Given the description of an element on the screen output the (x, y) to click on. 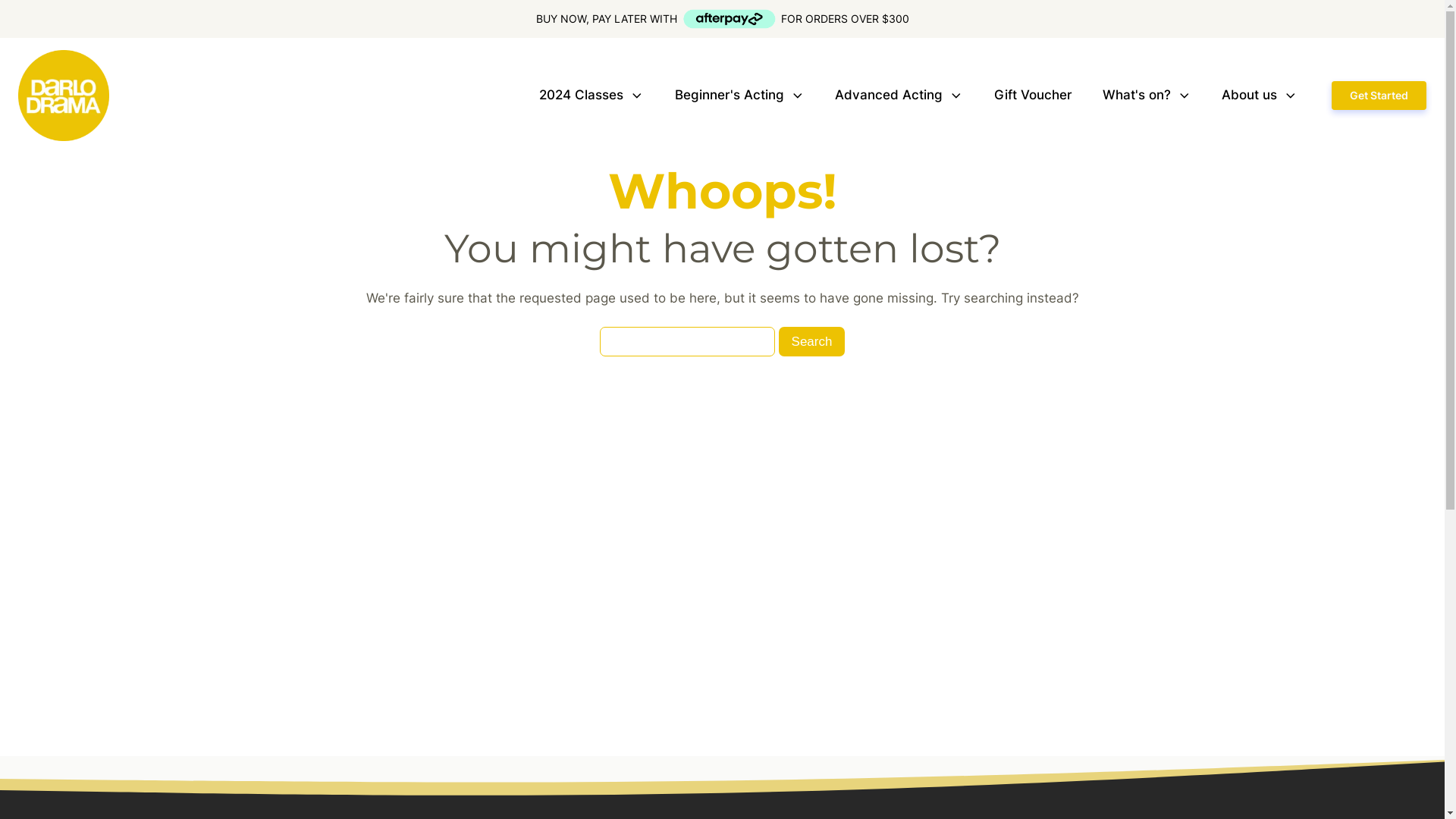
About us Element type: text (1259, 94)
Advanced Acting Element type: text (898, 94)
Get Started Element type: text (1378, 95)
Beginner's Acting Element type: text (739, 94)
Search Element type: text (811, 341)
What's on? Element type: text (1147, 94)
2024 Classes Element type: text (591, 94)
Gift Voucher Element type: text (1033, 94)
